Given the description of an element on the screen output the (x, y) to click on. 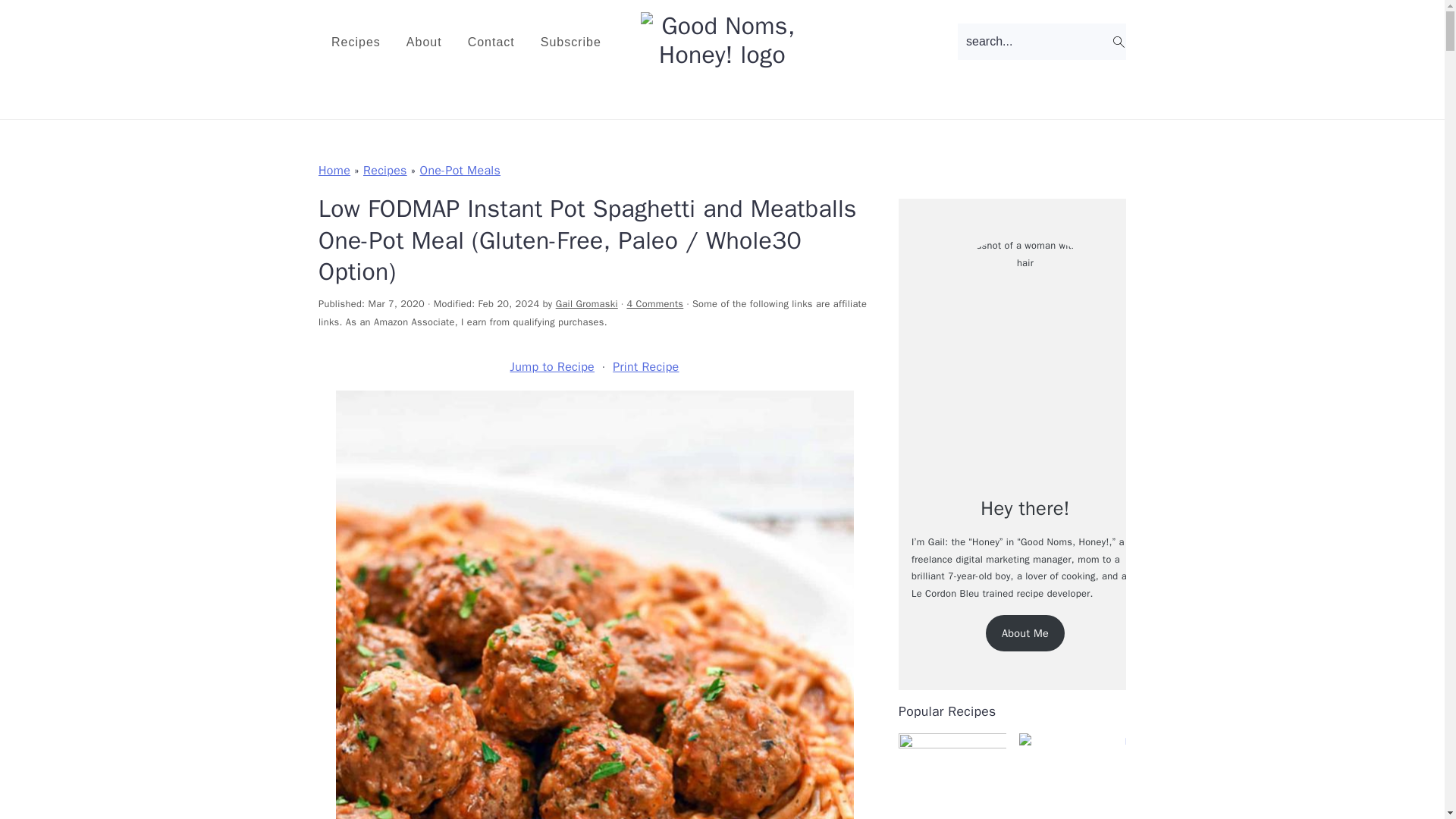
Recipes (384, 170)
About (423, 42)
Print Recipe (645, 366)
Recipes (355, 42)
Good Noms, Honey! (721, 54)
4 Comments (654, 304)
Gail Gromaski (586, 304)
Subscribe (570, 42)
Home (334, 170)
Contact (490, 42)
Good Noms, Honey! (721, 41)
